Given the description of an element on the screen output the (x, y) to click on. 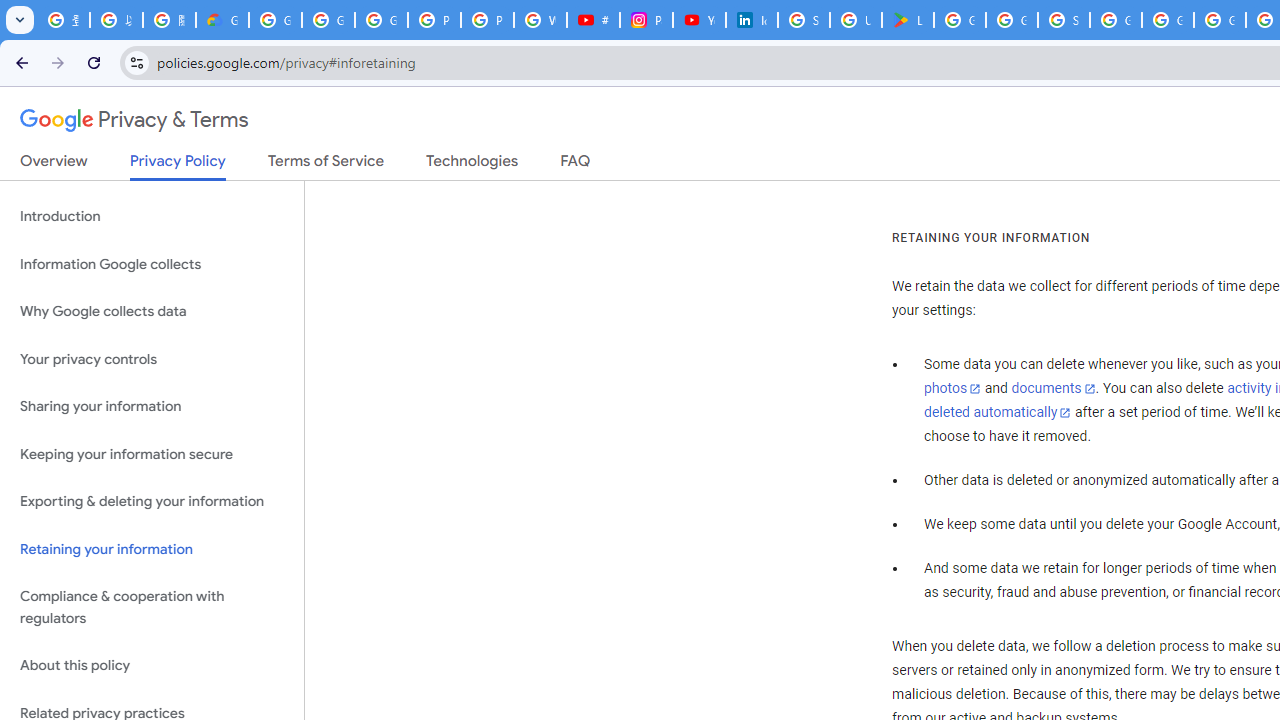
Your privacy controls (152, 358)
Last Shelter: Survival - Apps on Google Play (907, 20)
Introduction (152, 216)
Google Cloud Platform (1167, 20)
Why Google collects data (152, 312)
Information Google collects (152, 263)
YouTube Culture & Trends - On The Rise: Handcam Videos (699, 20)
Keeping your information secure (152, 453)
